Given the description of an element on the screen output the (x, y) to click on. 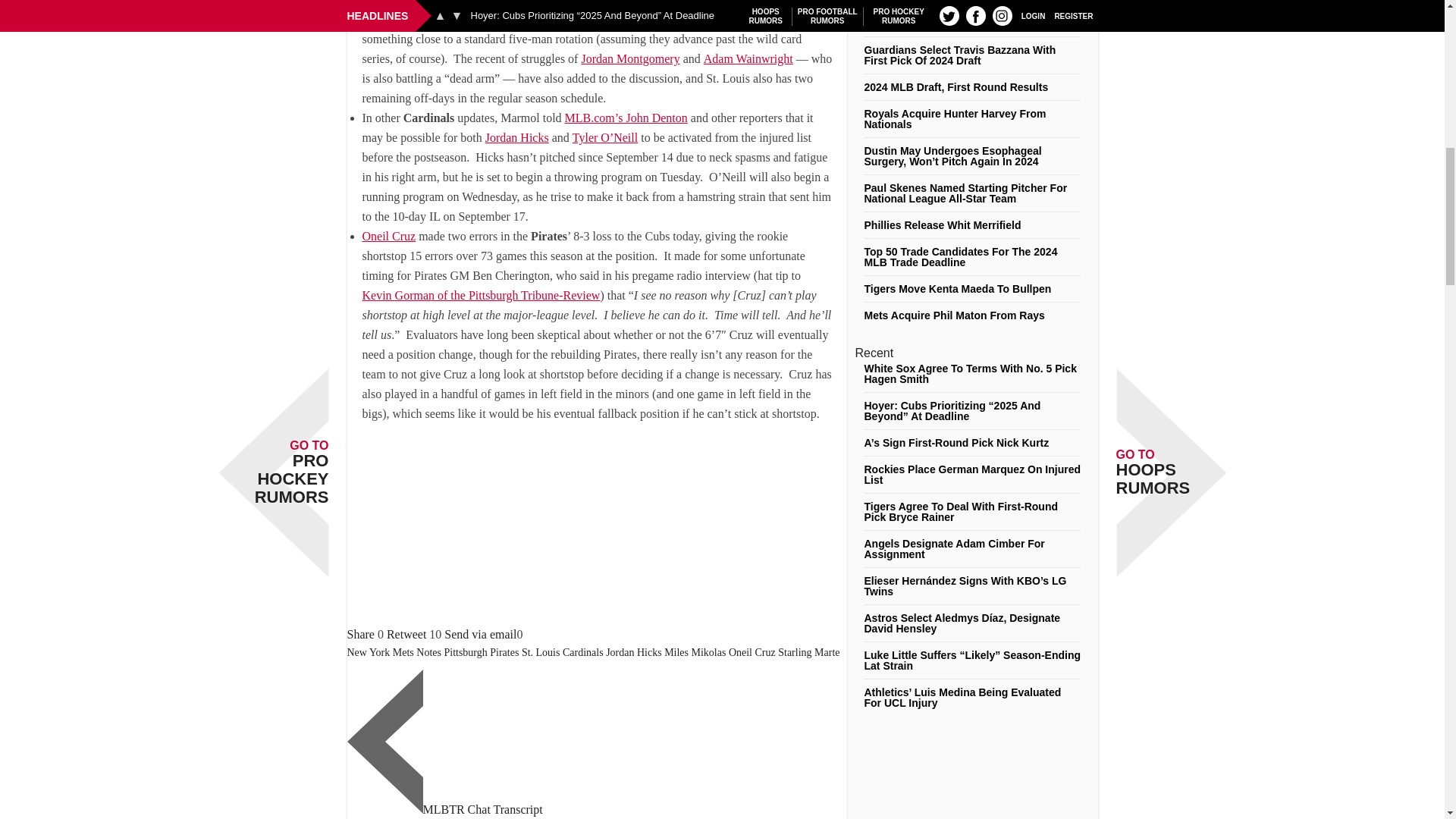
Retweet 'NL Notes: Marte, Cardinals, Cruz' on Twitter (406, 634)
Send NL Notes: Marte, Cardinals, Cruz with an email (480, 634)
Share 'NL Notes: Marte, Cardinals, Cruz' on Facebook (360, 634)
